Given the description of an element on the screen output the (x, y) to click on. 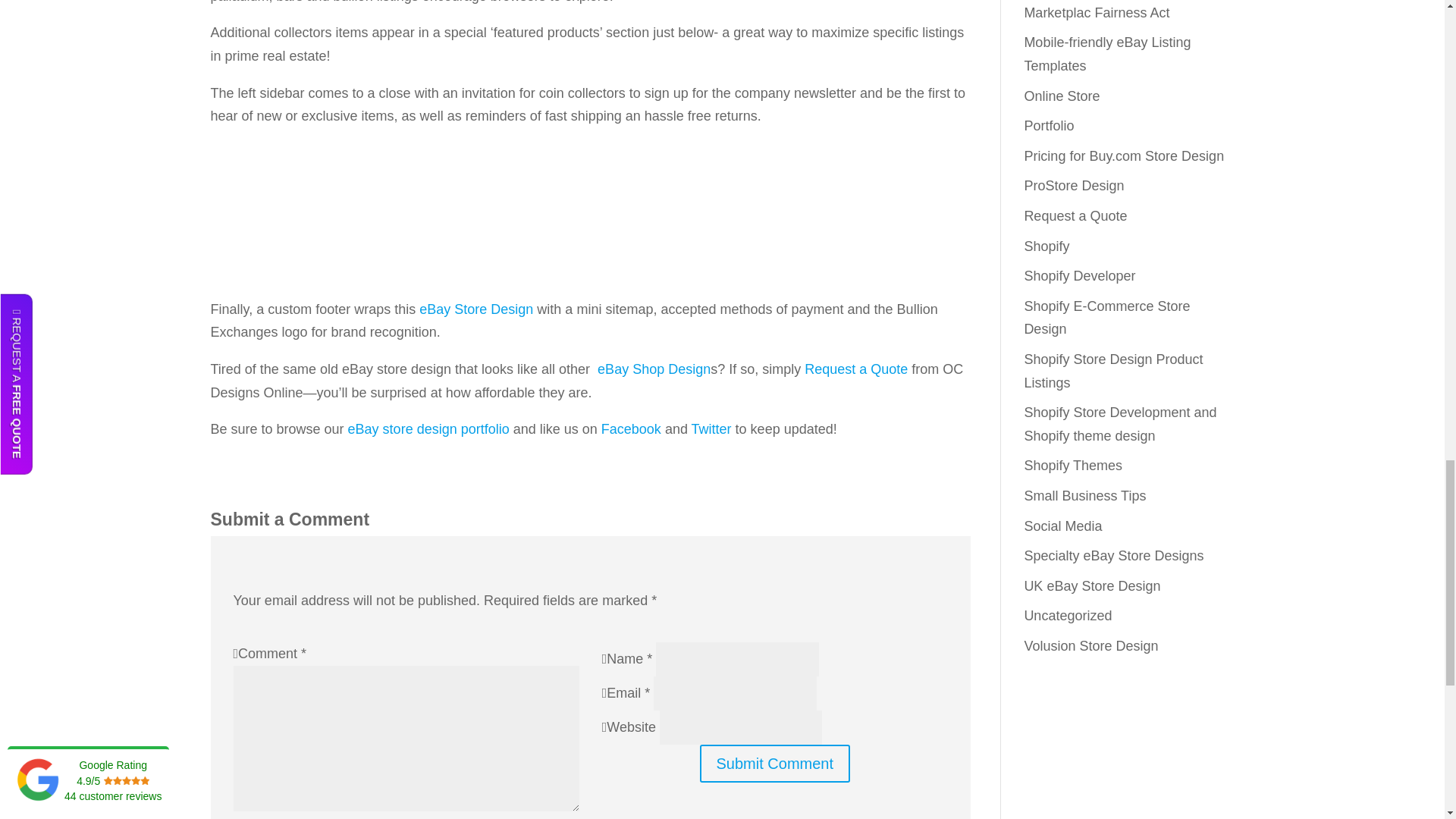
Custom eBay Shop Design (653, 368)
Custom eBay Store Design (475, 309)
Submit Comment (775, 763)
Request an eBay store design quote (856, 368)
